Given the description of an element on the screen output the (x, y) to click on. 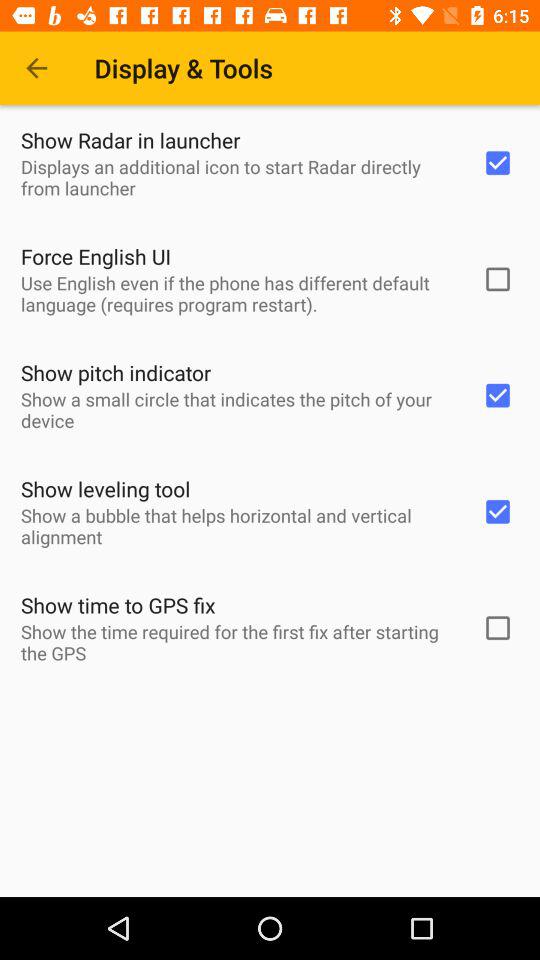
choose icon below the show radar in icon (238, 177)
